Given the description of an element on the screen output the (x, y) to click on. 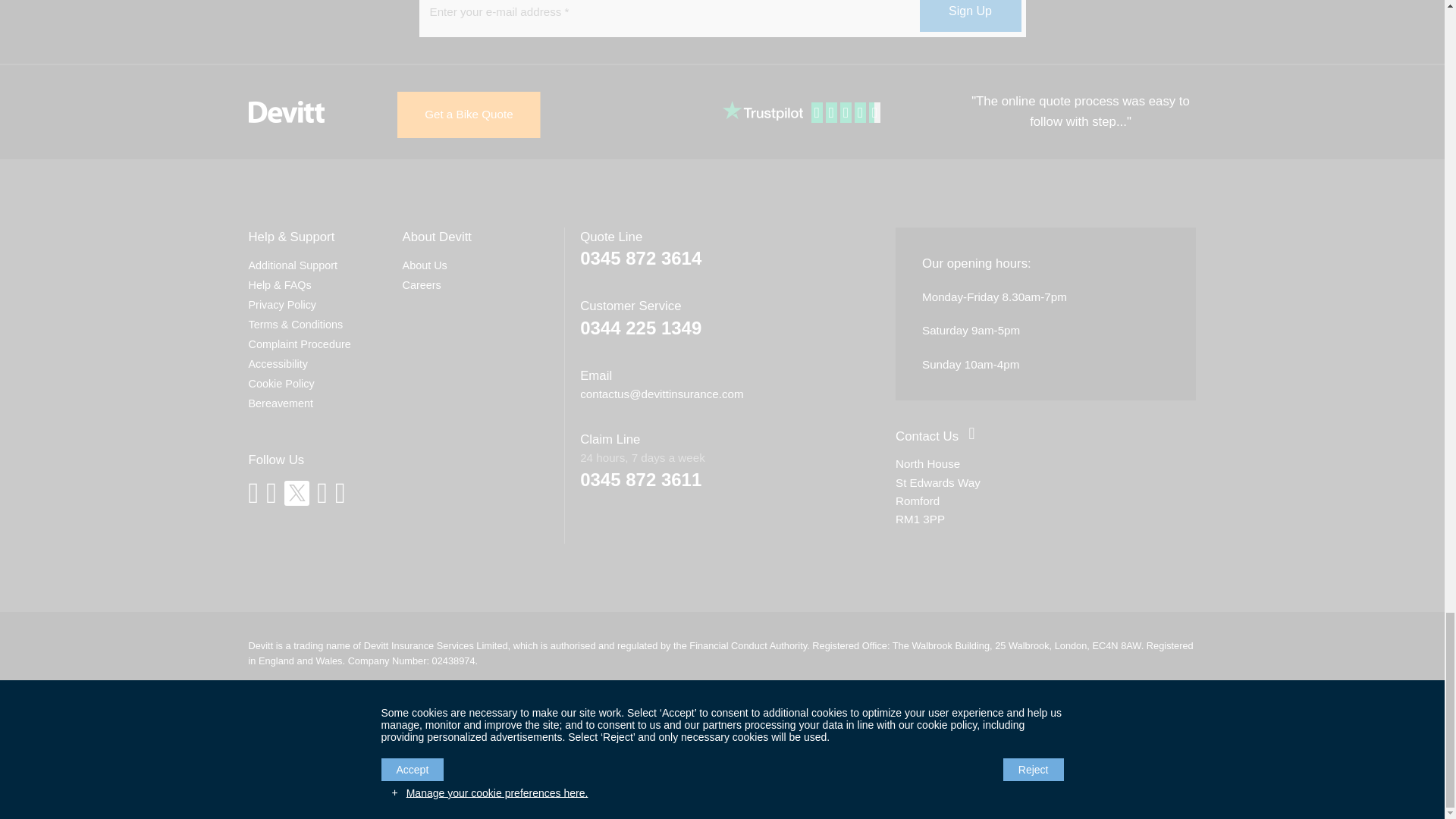
Follow us on Twitter (295, 493)
Rated 4.5 stars out of 5 (846, 113)
Return to Devitt Insurance homepage (286, 111)
Sign Up (969, 15)
Get in-touch with the Devitt team (926, 436)
